Given the description of an element on the screen output the (x, y) to click on. 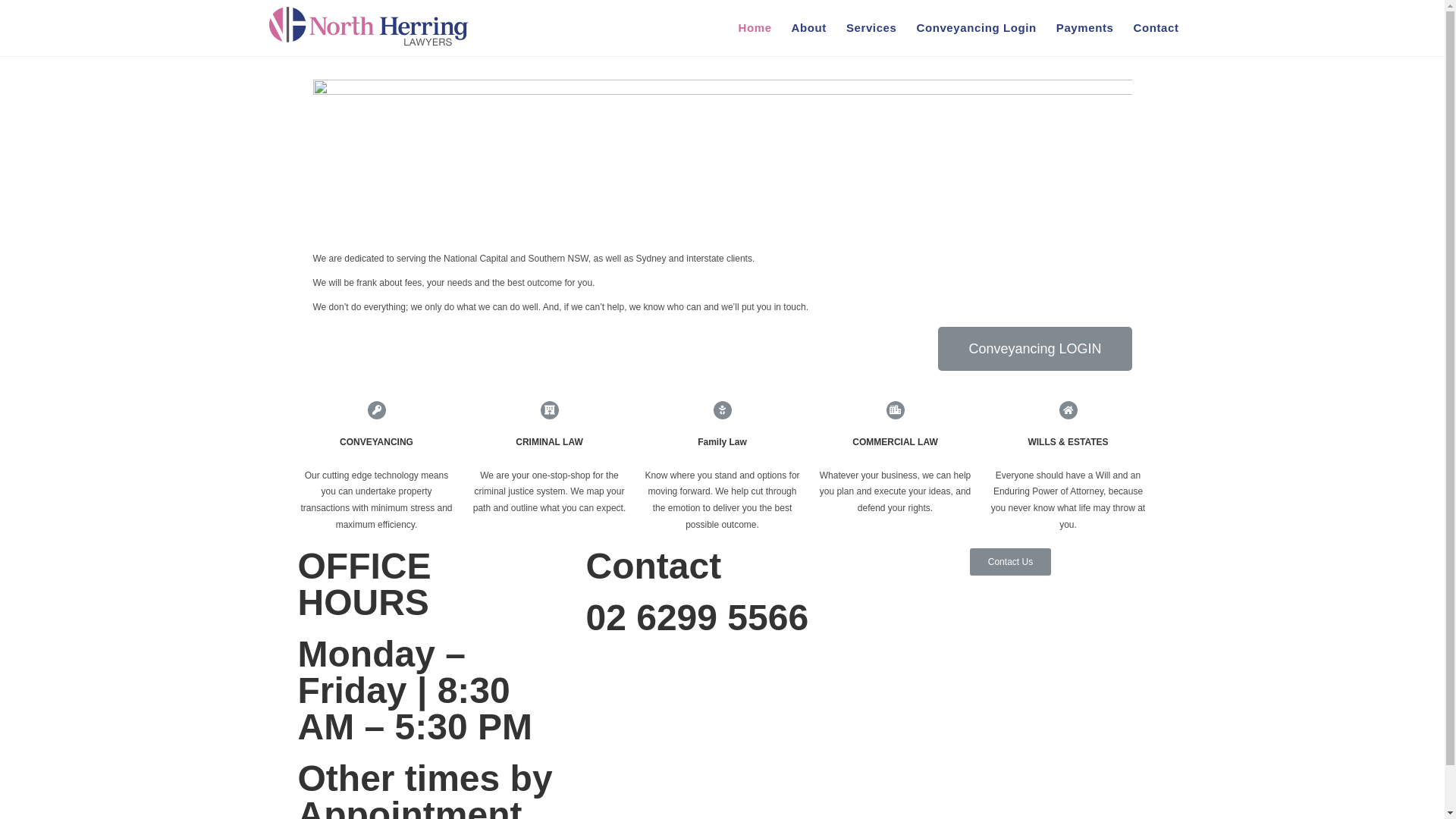
About Element type: text (808, 28)
Home Element type: text (754, 28)
Family Law Element type: text (721, 441)
COMMERCIAL LAW Element type: text (894, 441)
CRIMINAL LAW Element type: text (548, 441)
CONVEYANCING Element type: text (376, 441)
Contact Element type: text (653, 566)
02 6299 5566 Element type: text (696, 617)
Conveyancing Login Element type: text (975, 28)
Payments Element type: text (1084, 28)
Contact Element type: text (1155, 28)
Services Element type: text (871, 28)
Conveyancing LOGIN Element type: text (1034, 348)
WILLS & ESTATES Element type: text (1067, 441)
Contact Us Element type: text (1010, 561)
OFFICE HOURS Element type: text (363, 584)
